Given the description of an element on the screen output the (x, y) to click on. 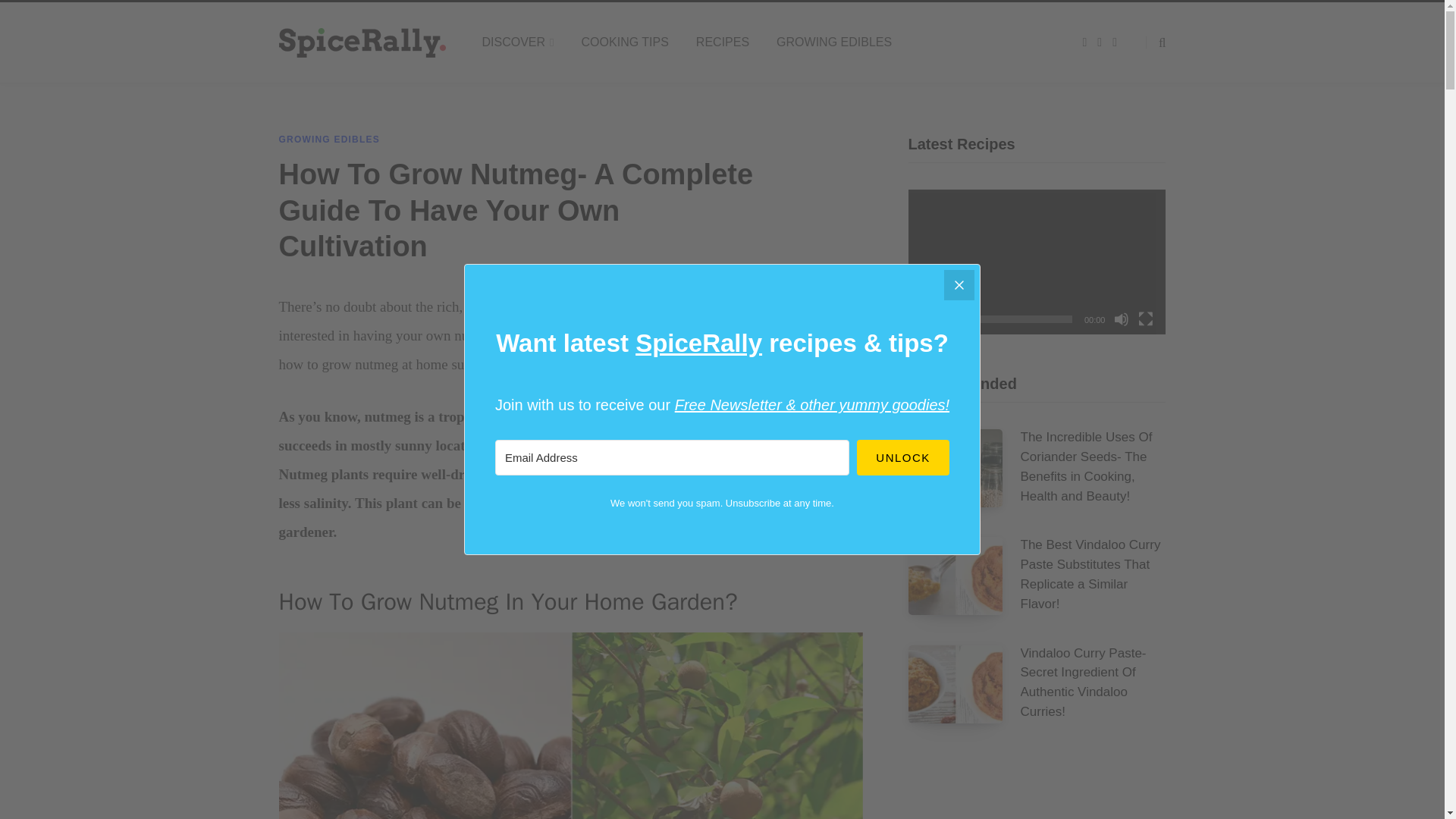
Search (1155, 42)
GROWING EDIBLES (833, 41)
GROWING EDIBLES (329, 139)
DISCOVER (517, 41)
Fullscreen (1145, 319)
COOKING TIPS (624, 41)
RECIPES (722, 41)
Mute (1121, 319)
Play (928, 319)
